Given the description of an element on the screen output the (x, y) to click on. 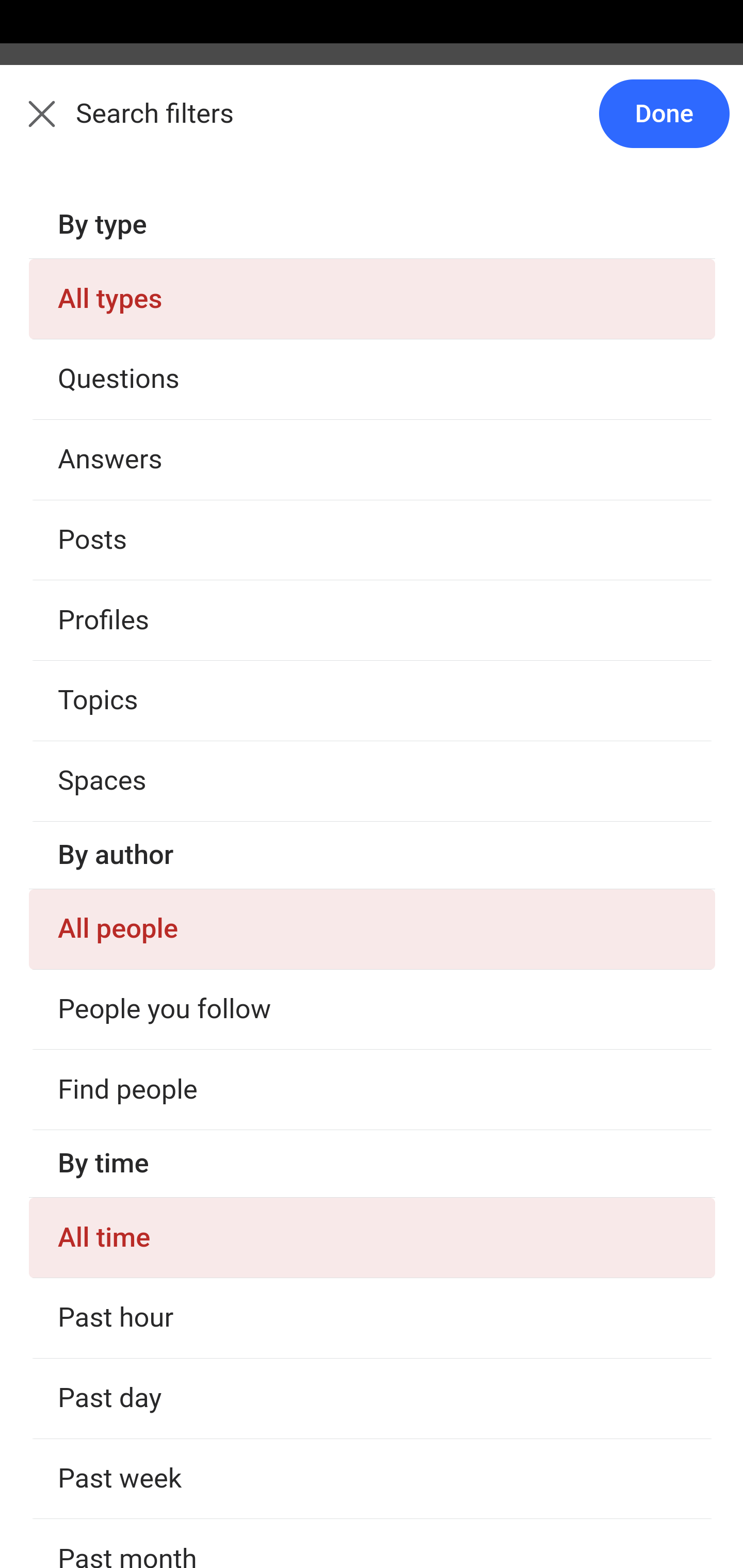
Back Search (371, 125)
Answer (125, 387)
What industries will virtual reality (VR) disrupt? (372, 1309)
Answer (125, 1415)
